Given the description of an element on the screen output the (x, y) to click on. 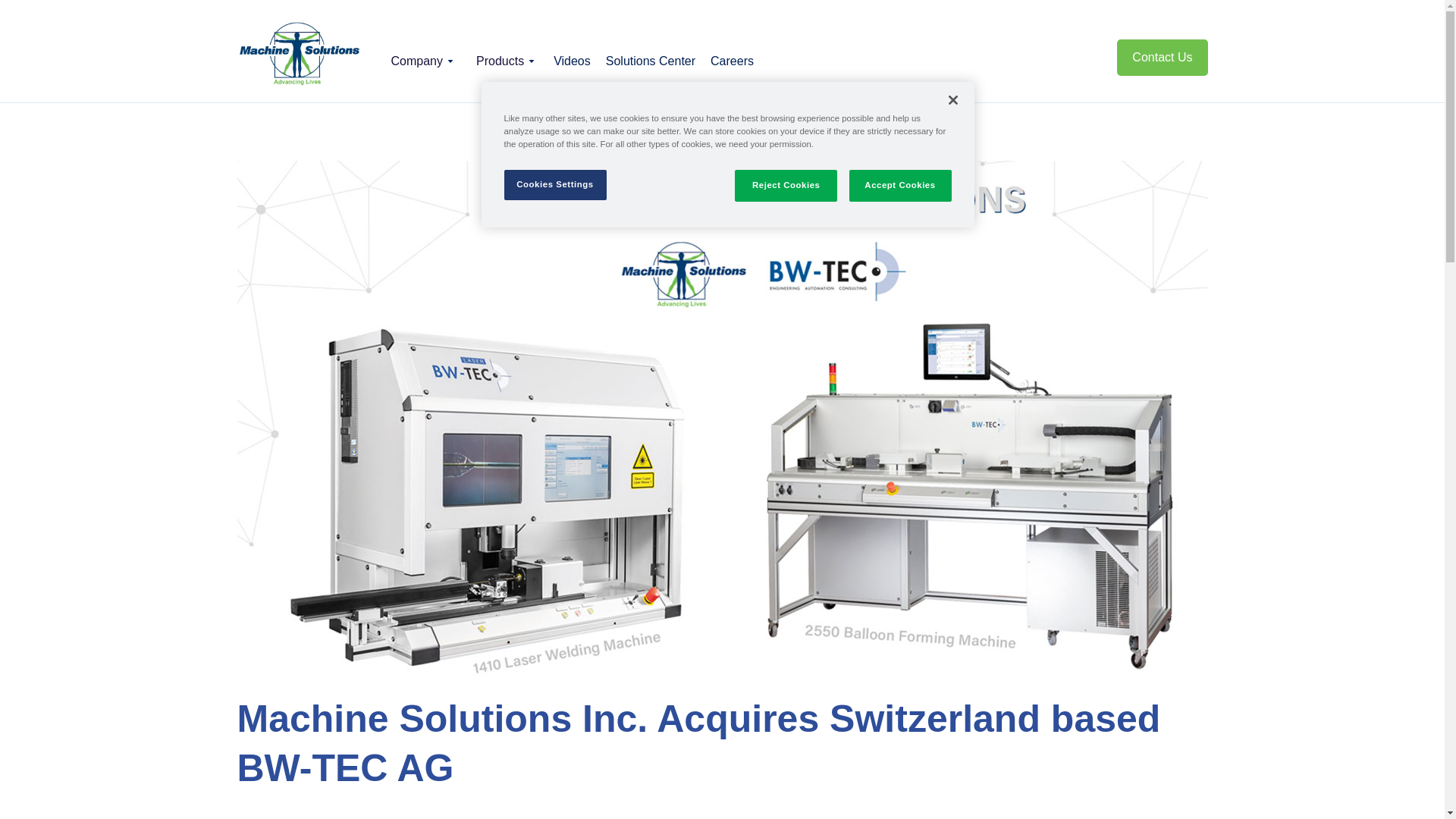
Careers (732, 57)
Videos (572, 57)
Solutions Center (650, 57)
